Given the description of an element on the screen output the (x, y) to click on. 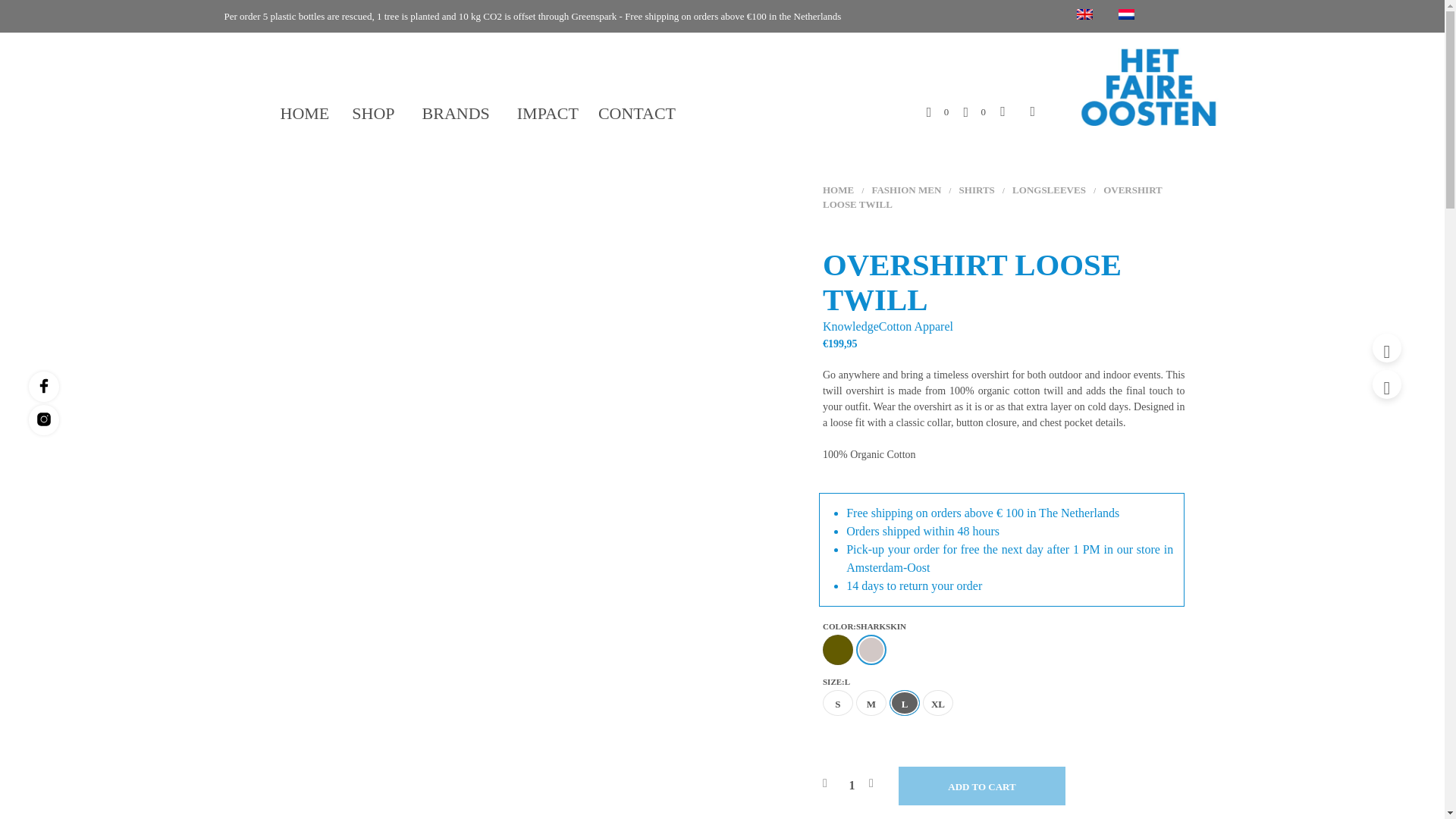
HOME (305, 113)
0 (973, 111)
1 (851, 785)
0 (937, 111)
SHOP (374, 113)
House Of Impact (1144, 86)
